Given the description of an element on the screen output the (x, y) to click on. 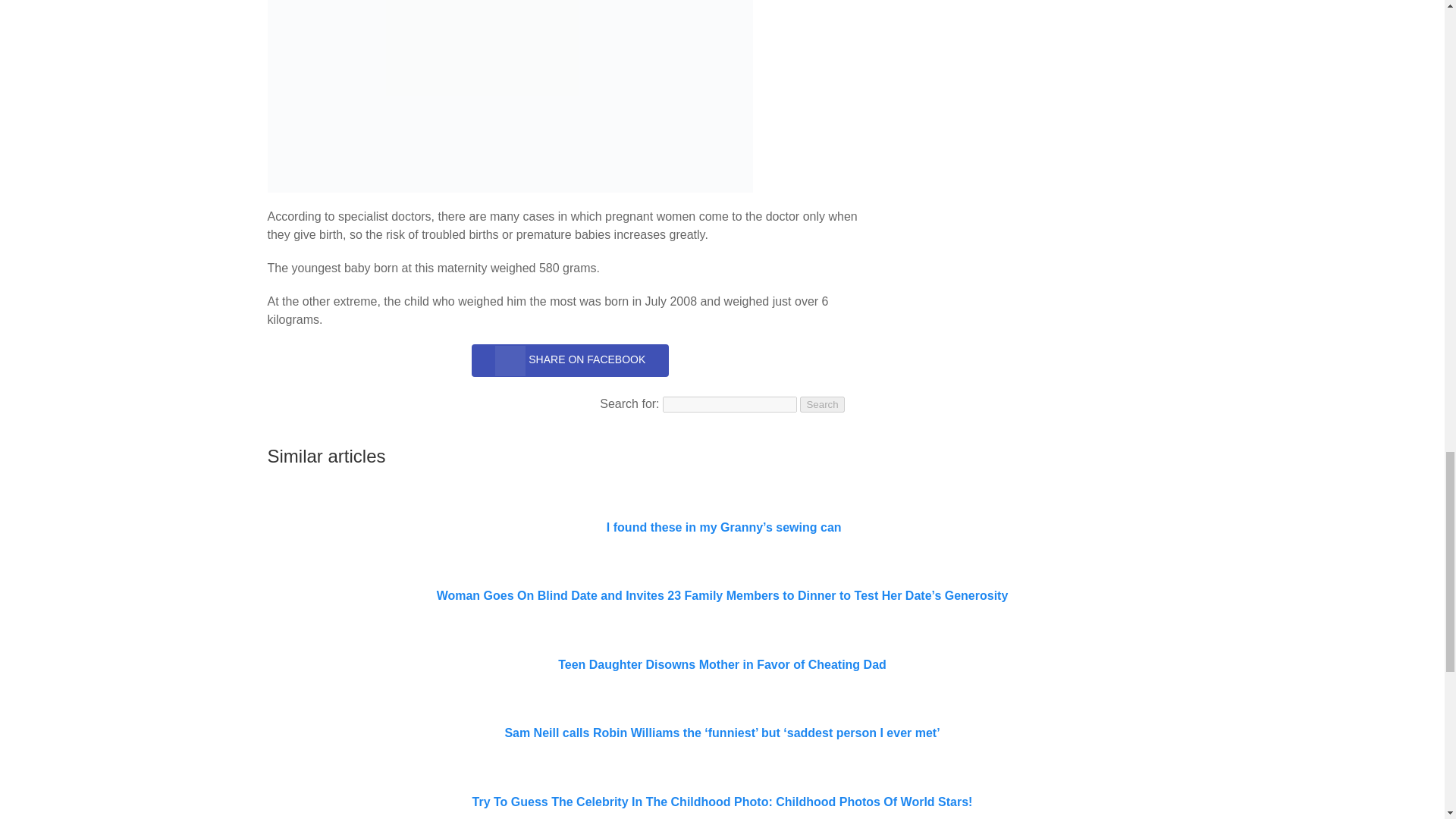
Search (821, 404)
Teen Daughter Disowns Mother in Favor of Cheating Dad (721, 664)
SHARE ON FACEBOOK (569, 359)
Search (821, 404)
